Given the description of an element on the screen output the (x, y) to click on. 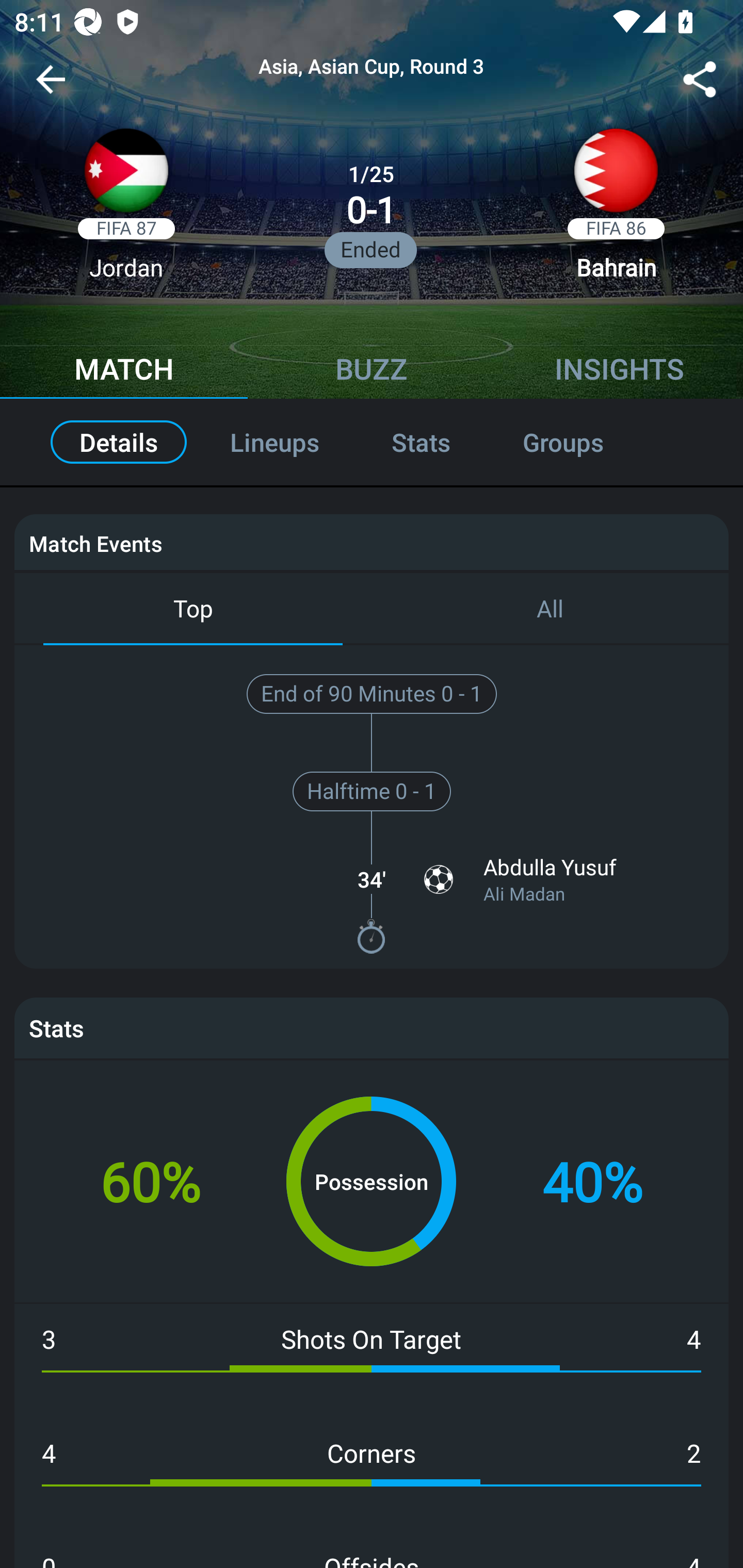
Navigate up (50, 86)
Asia, Asian Cup, Round 3 (371, 66)
Share (699, 82)
FIFA 87 Jordan (126, 210)
FIFA 86 Bahrain (616, 210)
MATCH (123, 371)
BUZZ (371, 371)
INSIGHTS (619, 371)
Lineups (274, 442)
Stats (420, 442)
Groups (584, 442)
All (549, 609)
Abdulla Yusuf Ali Madan (562, 879)
3 Shots On Target 4 43.0 57.0 (371, 1360)
4 Corners 2 67.0 33.0 (371, 1474)
